Given the description of an element on the screen output the (x, y) to click on. 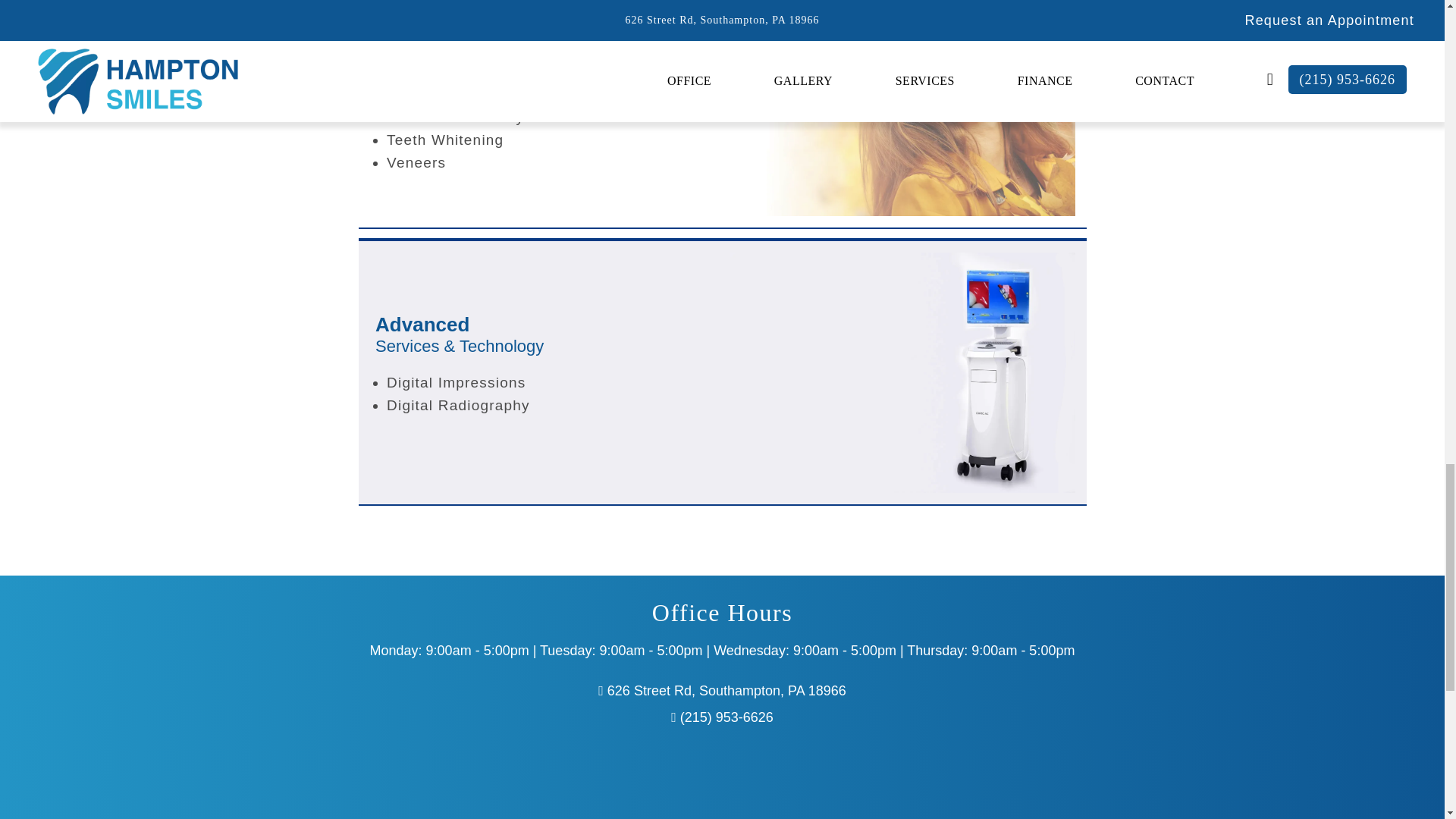
Teeth Whitening (563, 139)
Cosmetic Dentistry (563, 117)
Clear Aligners (419, 24)
Schaeffer Virpi DDS (563, 94)
Ceramic Crowns (722, 778)
